Given the description of an element on the screen output the (x, y) to click on. 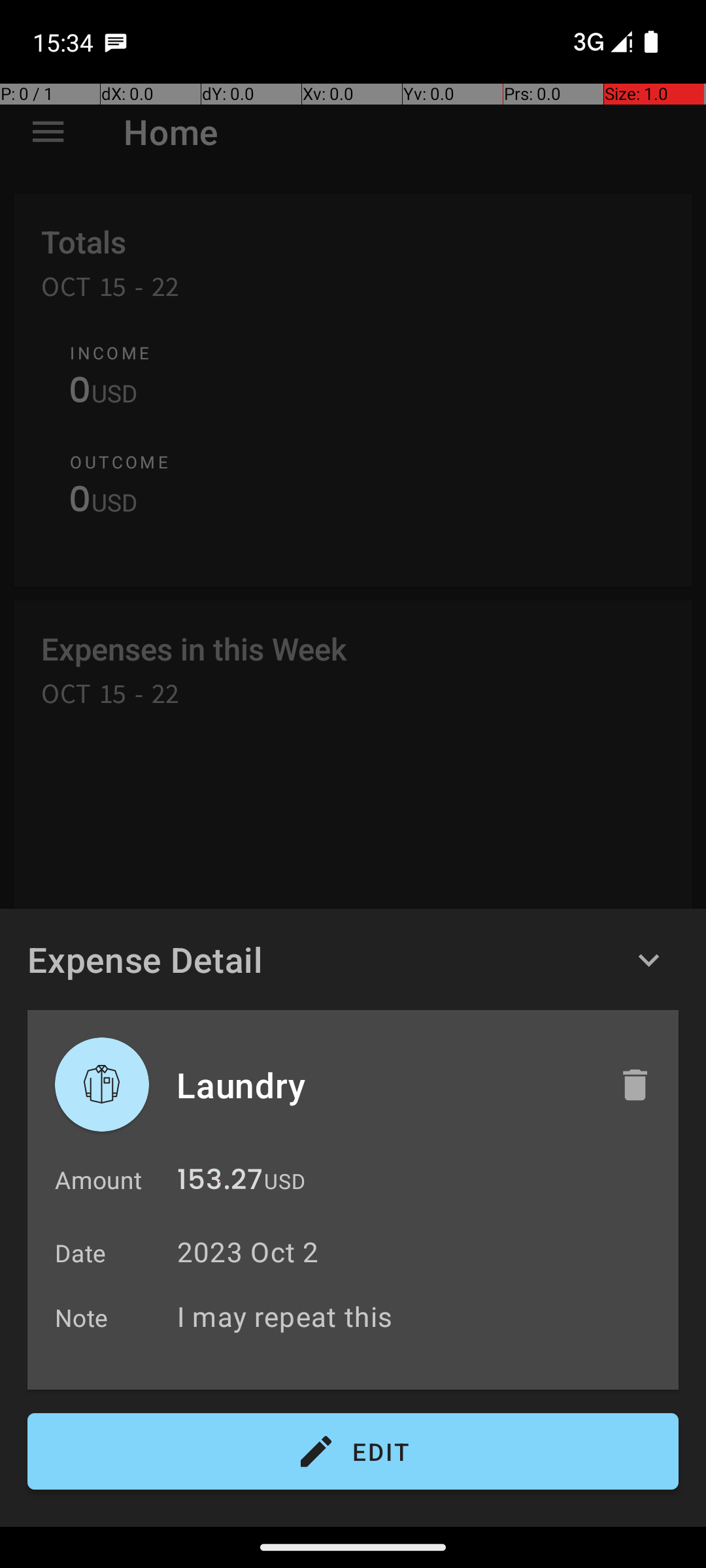
Laundry Element type: android.widget.TextView (383, 1084)
153.27 Element type: android.widget.TextView (219, 1182)
2023 Oct 2 Element type: android.widget.TextView (247, 1251)
